Given the description of an element on the screen output the (x, y) to click on. 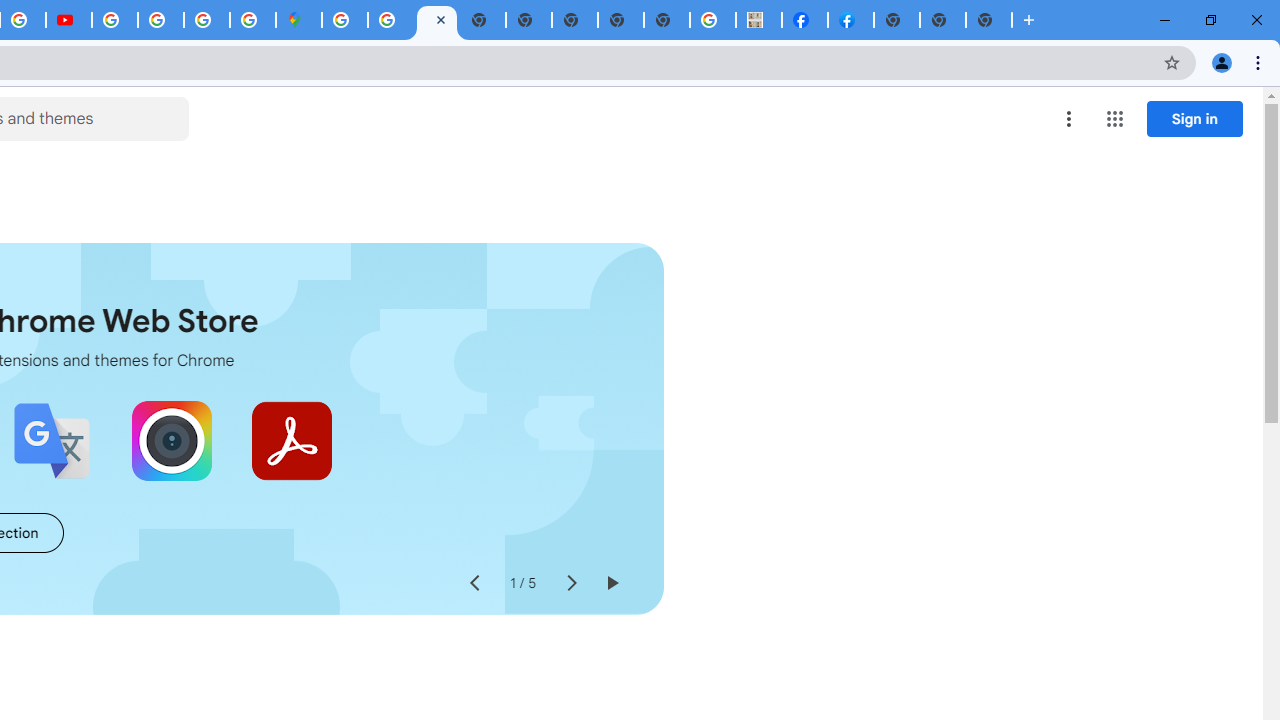
New Tab (897, 20)
Next slide (570, 583)
Sign Up for Facebook (851, 20)
Chrome Web Store (436, 20)
Resume auto-play (611, 583)
Sign in (1194, 118)
Awesome Screen Recorder & Screenshot (171, 440)
